Given the description of an element on the screen output the (x, y) to click on. 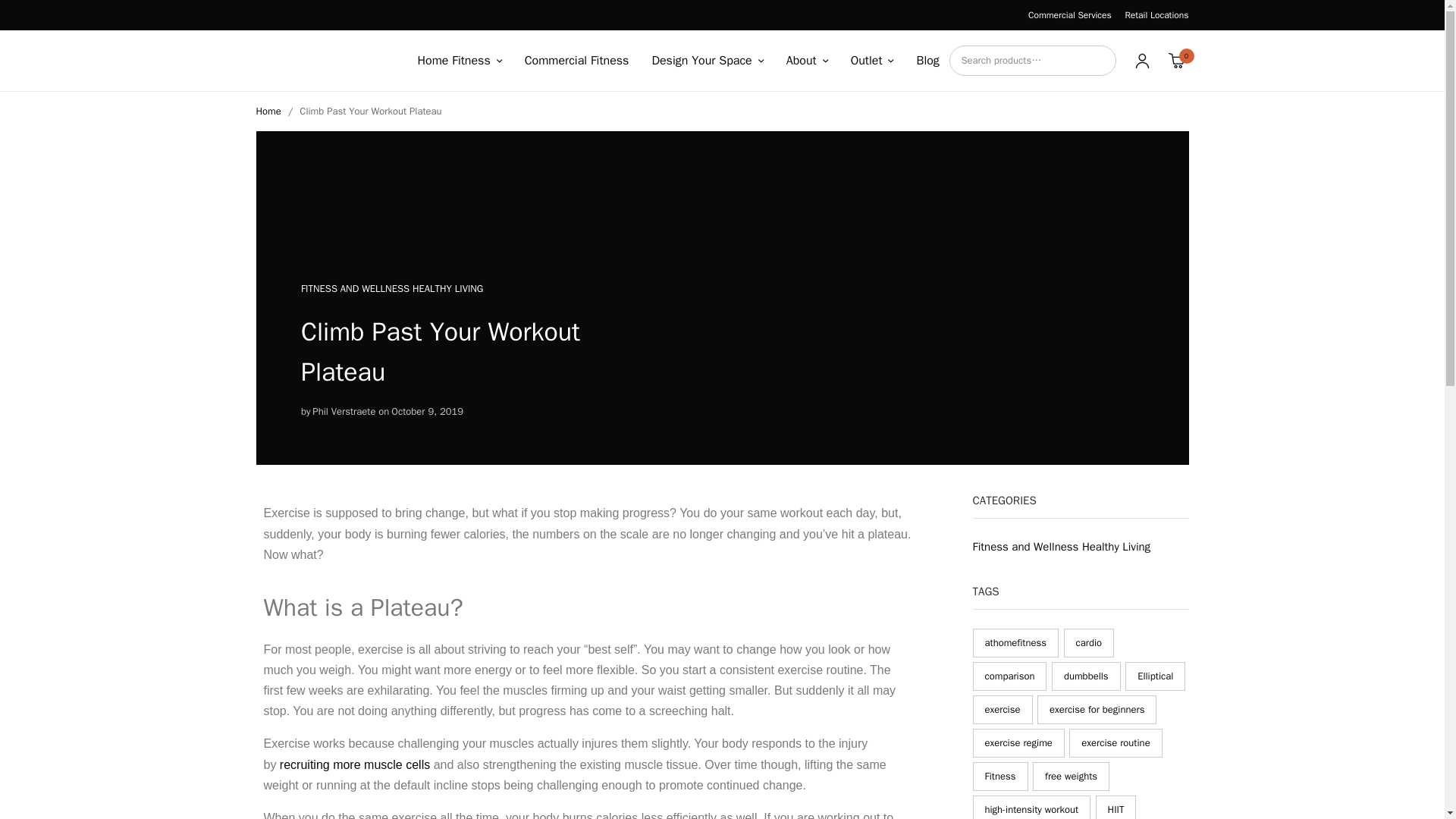
Posts by Phil Verstraete (344, 412)
Commercial Services (1069, 14)
Retail Locations (1156, 14)
Premier Fitness Source (323, 61)
Home Fitness (458, 60)
